Given the description of an element on the screen output the (x, y) to click on. 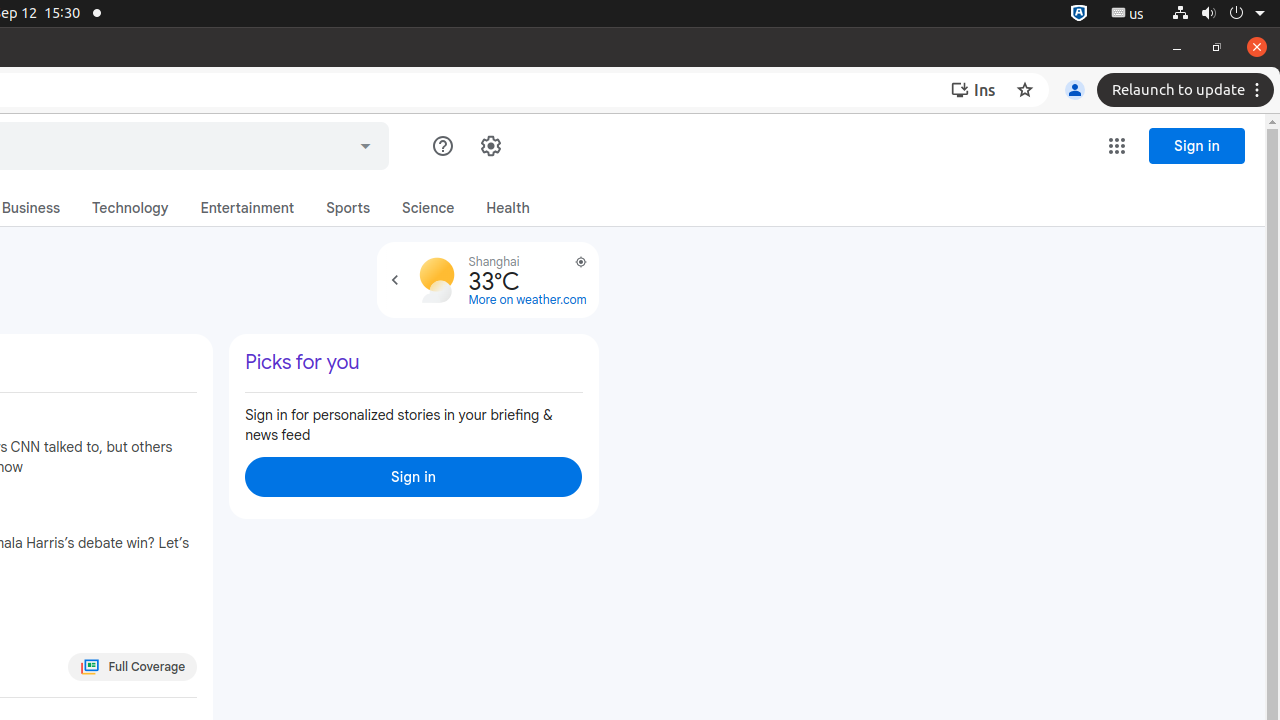
System Element type: menu (1218, 13)
Bookmark this tab Element type: push-button (1025, 90)
Expand to view forecast Element type: push-button (394, 280)
Advanced search Element type: push-button (365, 143)
Google apps Element type: push-button (1117, 145)
